Given the description of an element on the screen output the (x, y) to click on. 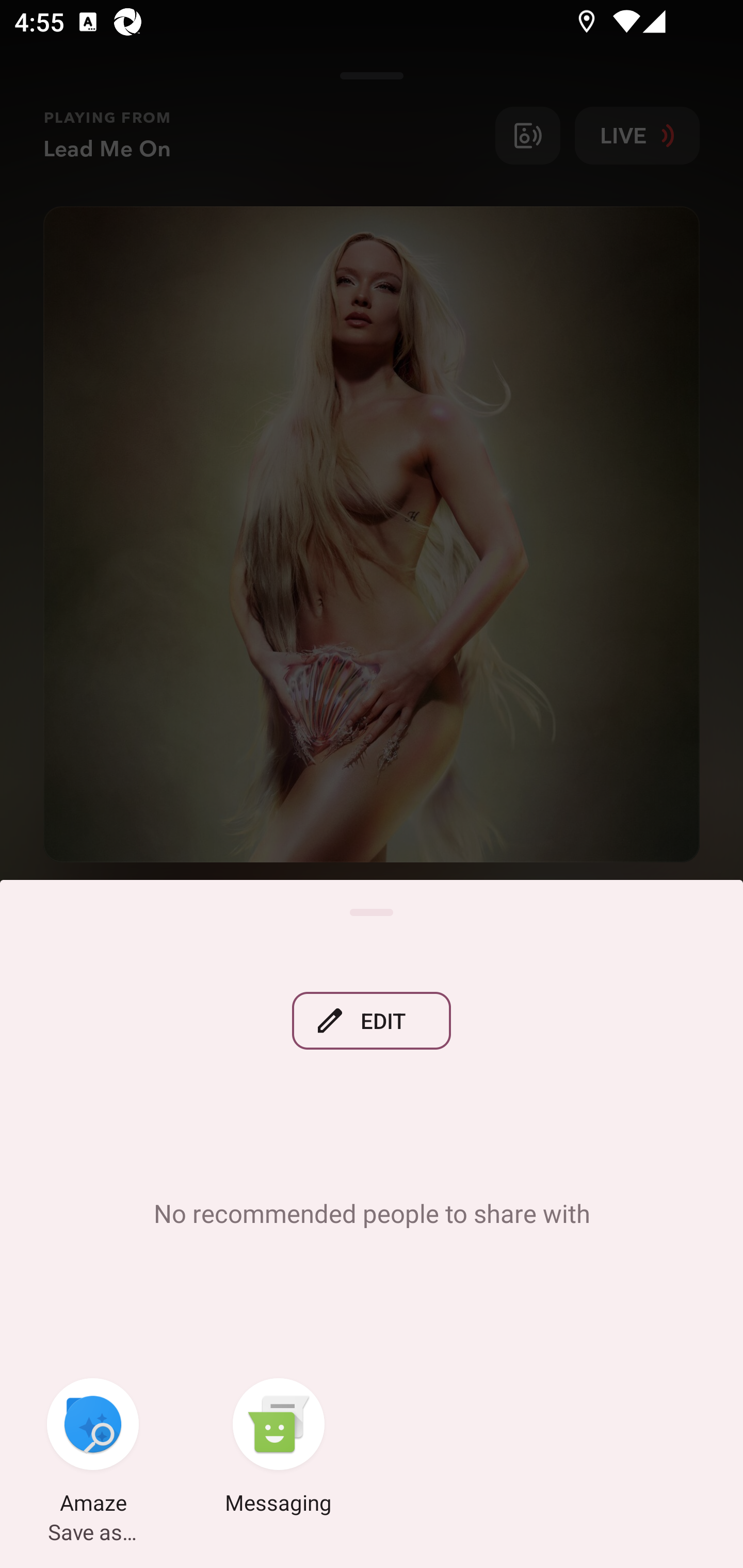
EDIT (371, 1020)
Amaze Save as… (92, 1448)
Messaging (278, 1448)
